Given the description of an element on the screen output the (x, y) to click on. 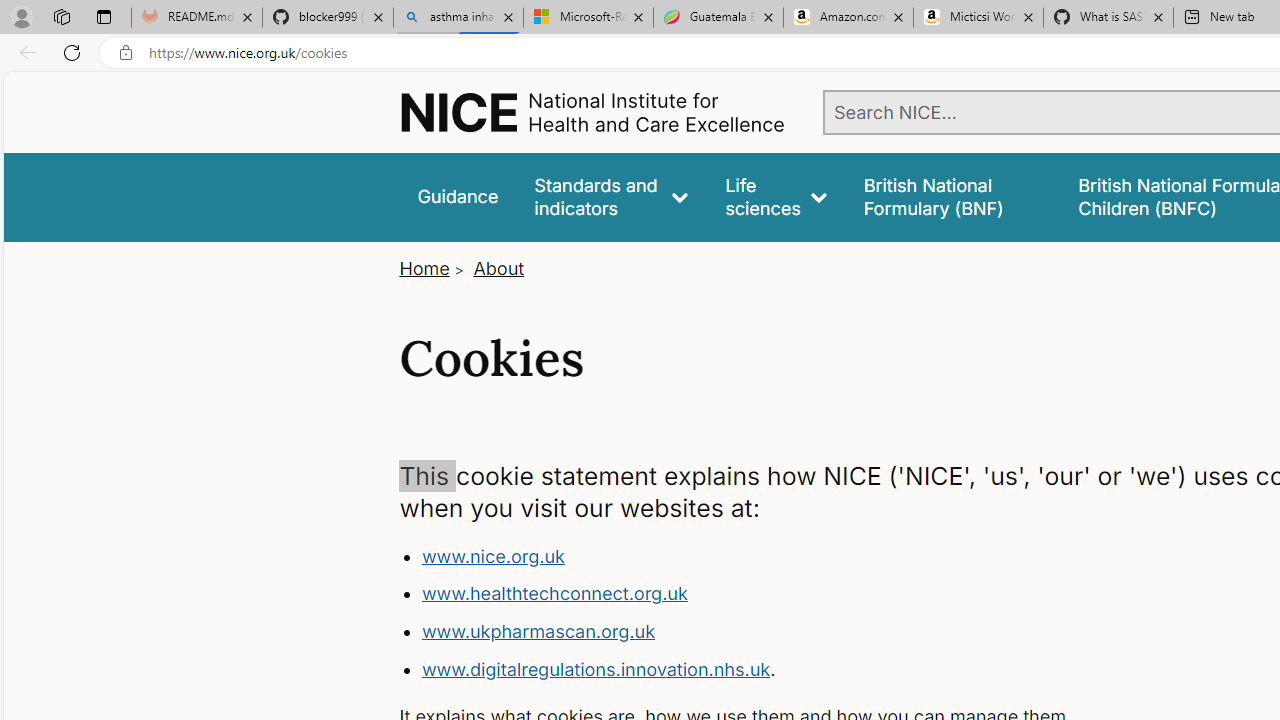
www.nice.org.uk (796, 556)
www.ukpharmascan.org.uk (796, 632)
Life sciences (776, 196)
Guidance (458, 196)
